Given the description of an element on the screen output the (x, y) to click on. 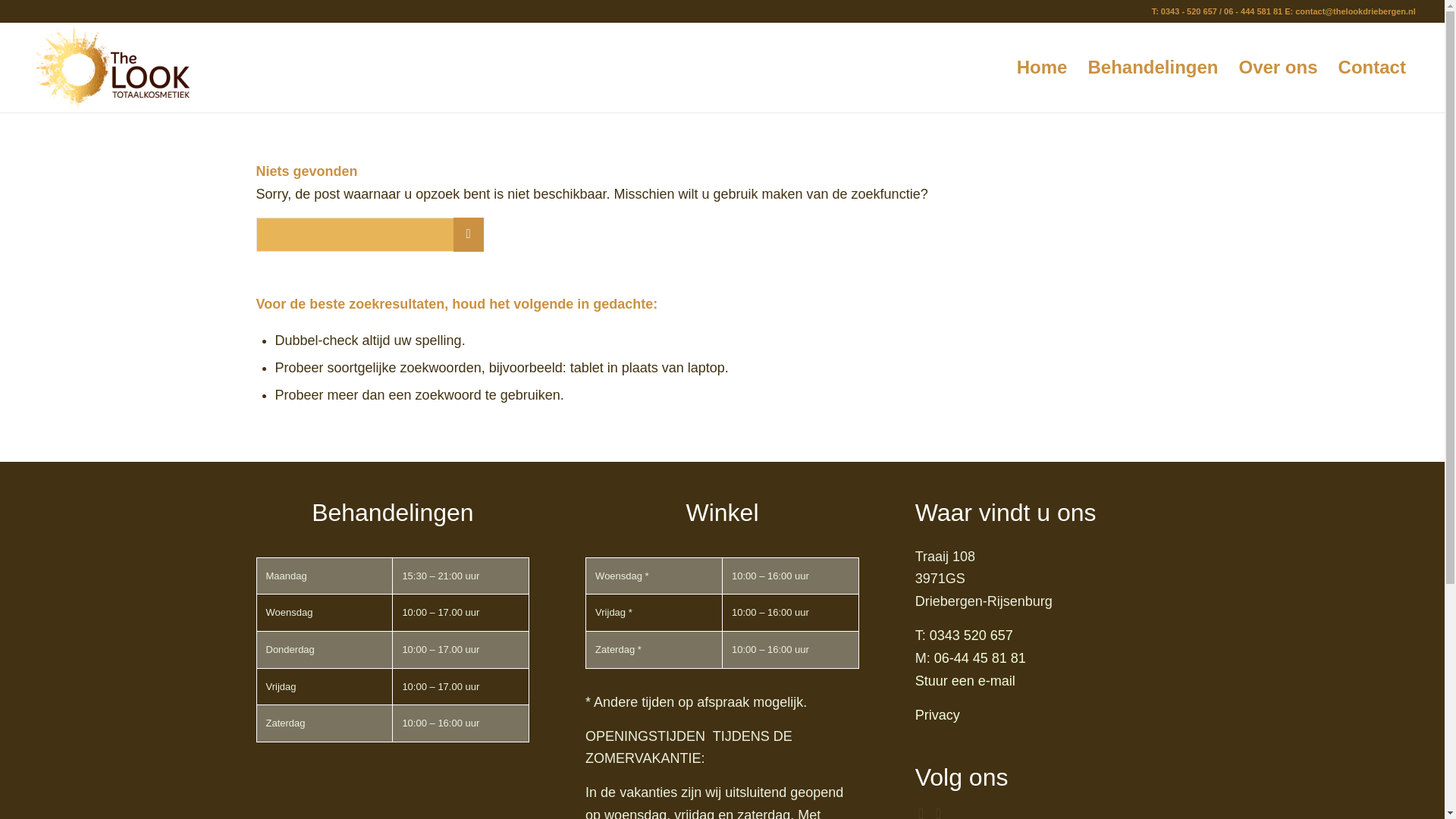
06-44 45 81 81 (980, 657)
Privacy (937, 714)
Contact (1371, 67)
Stuur een e-mail (964, 680)
0343 520 657 (971, 635)
0343 - 520 657 (1188, 10)
06 - 444 581 81 (1253, 10)
Over ons (1277, 67)
Behandelingen (1152, 67)
